Given the description of an element on the screen output the (x, y) to click on. 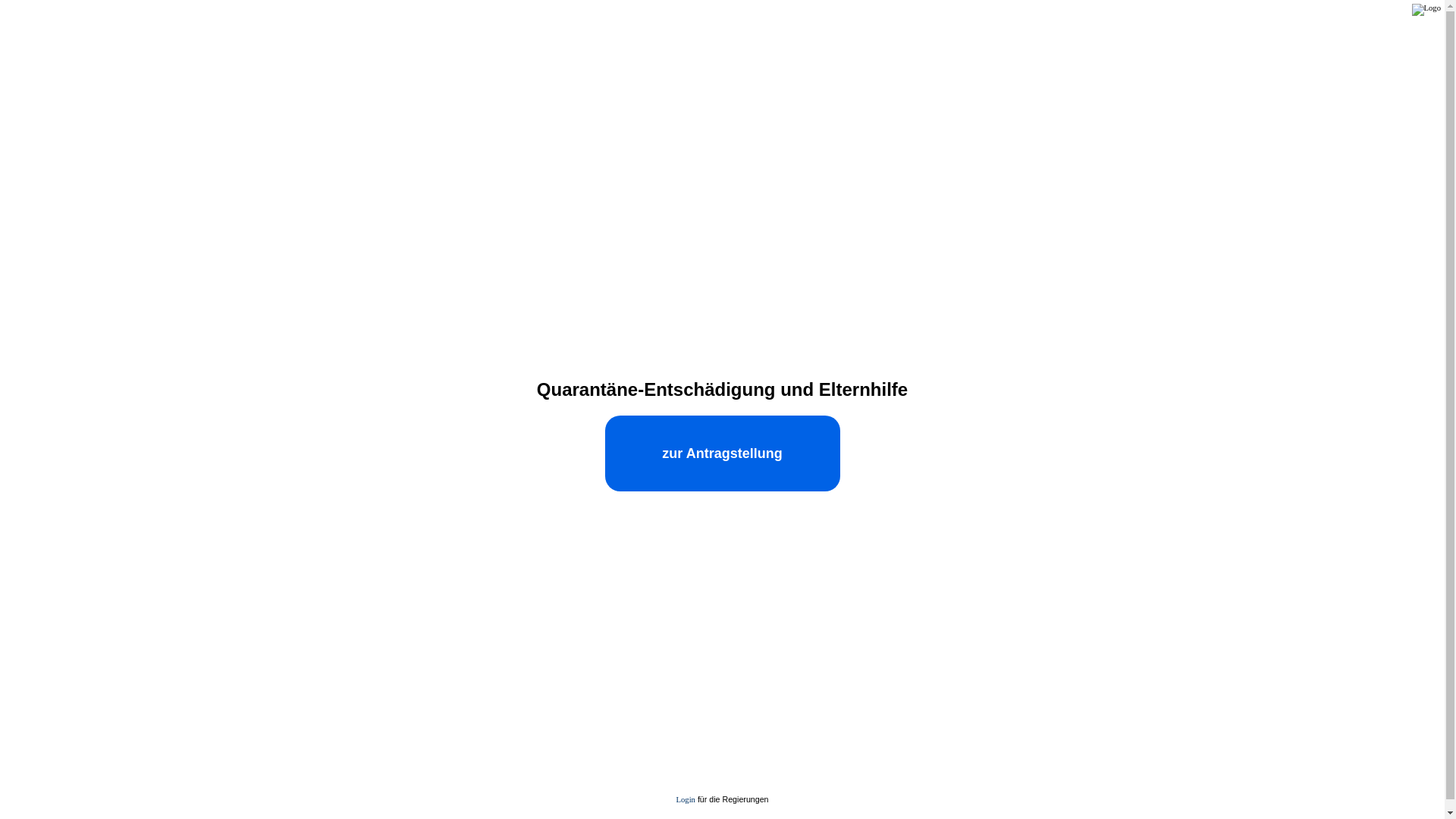
zur Antragstellung Element type: text (722, 453)
Login Element type: text (684, 799)
